Given the description of an element on the screen output the (x, y) to click on. 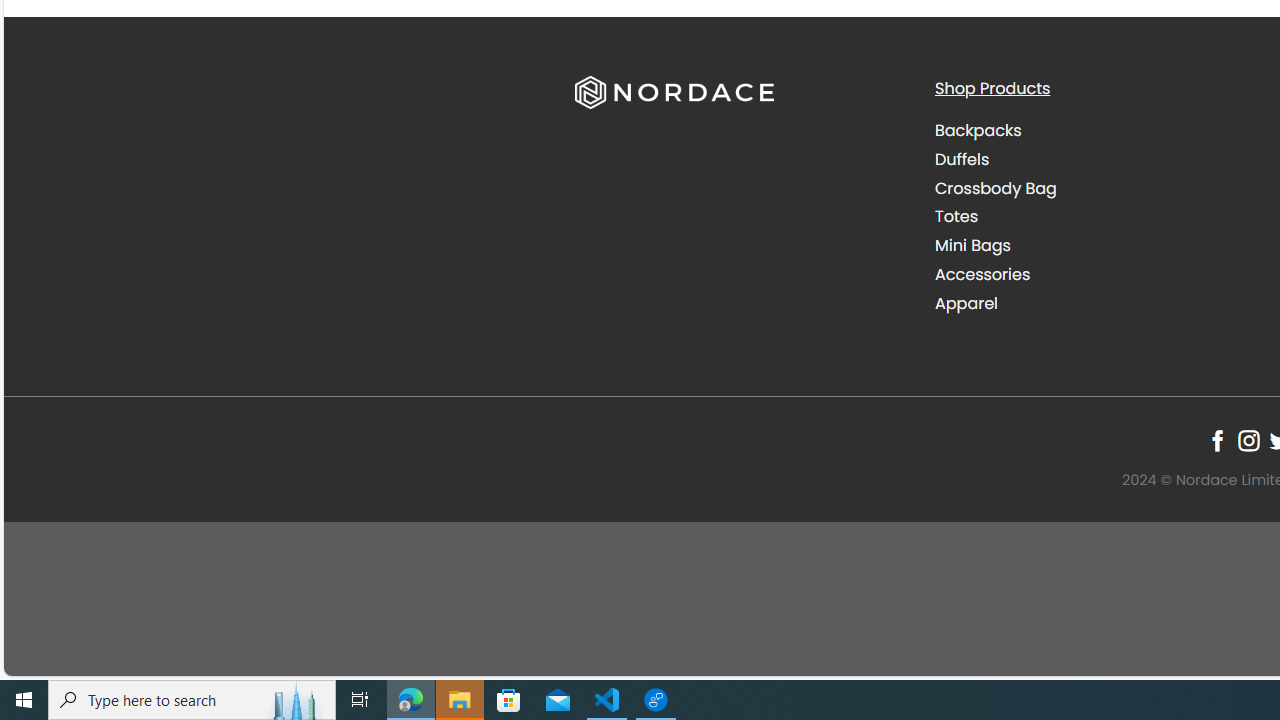
Backpacks (977, 130)
Crossbody Bag (1099, 188)
Mini Bags (1099, 246)
Totes (955, 216)
Follow on Instagram (1248, 440)
Apparel (966, 302)
Follow on Facebook (1217, 440)
Totes (1099, 216)
Apparel (1099, 303)
Backpacks (1099, 131)
Mini Bags (972, 245)
Duffels (1099, 159)
Accessories (982, 273)
Accessories (1099, 274)
Crossbody Bag (995, 187)
